Given the description of an element on the screen output the (x, y) to click on. 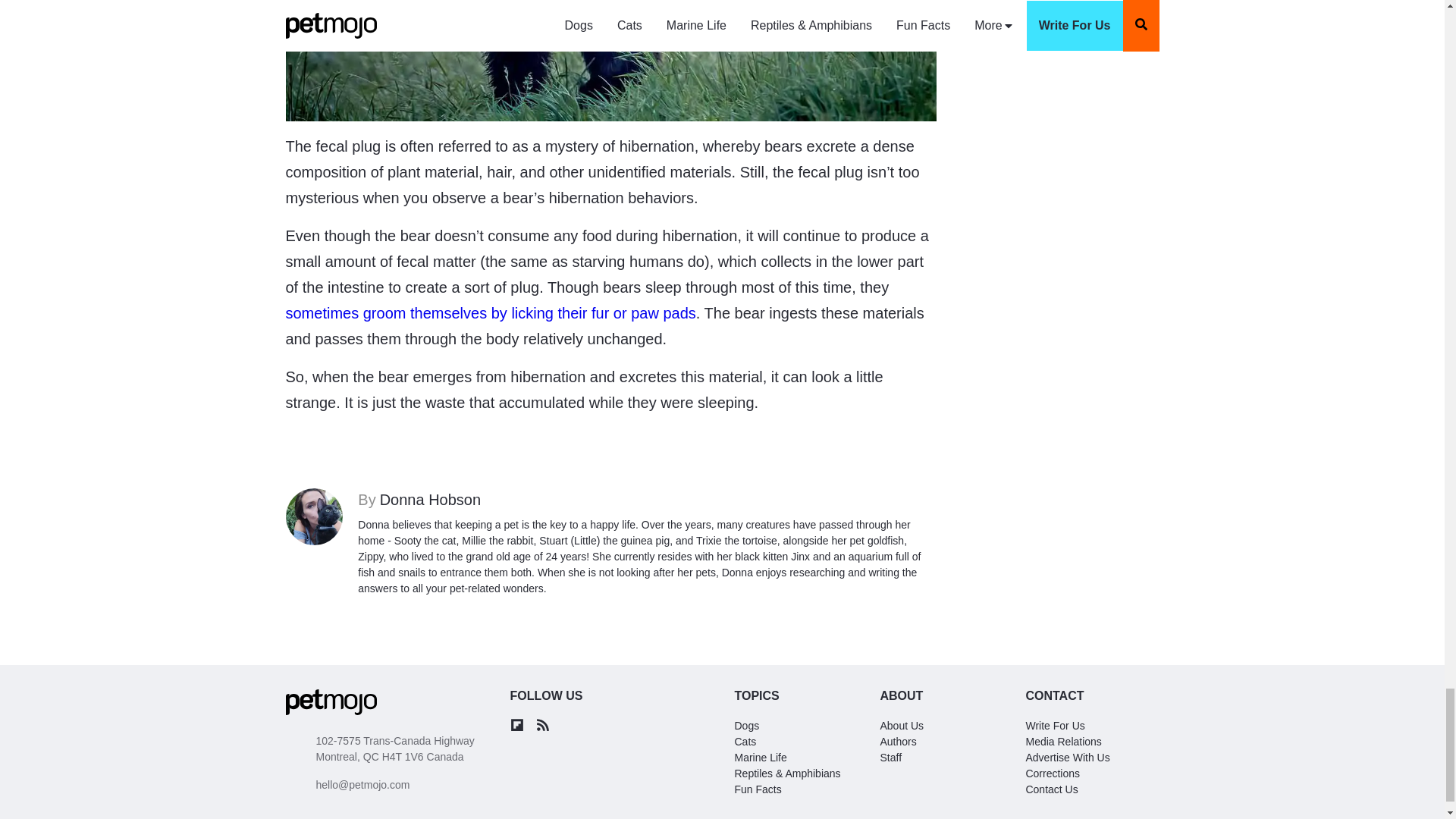
Write For Us (1054, 725)
Cats (744, 741)
About Us (901, 725)
Dogs (745, 725)
Media Relations (647, 499)
Authors (1062, 741)
Fun Facts (897, 741)
Staff (756, 788)
sometimes groom themselves by licking their fur or paw pads (890, 757)
Advertise With Us (490, 312)
Marine Life (1067, 757)
